Given the description of an element on the screen output the (x, y) to click on. 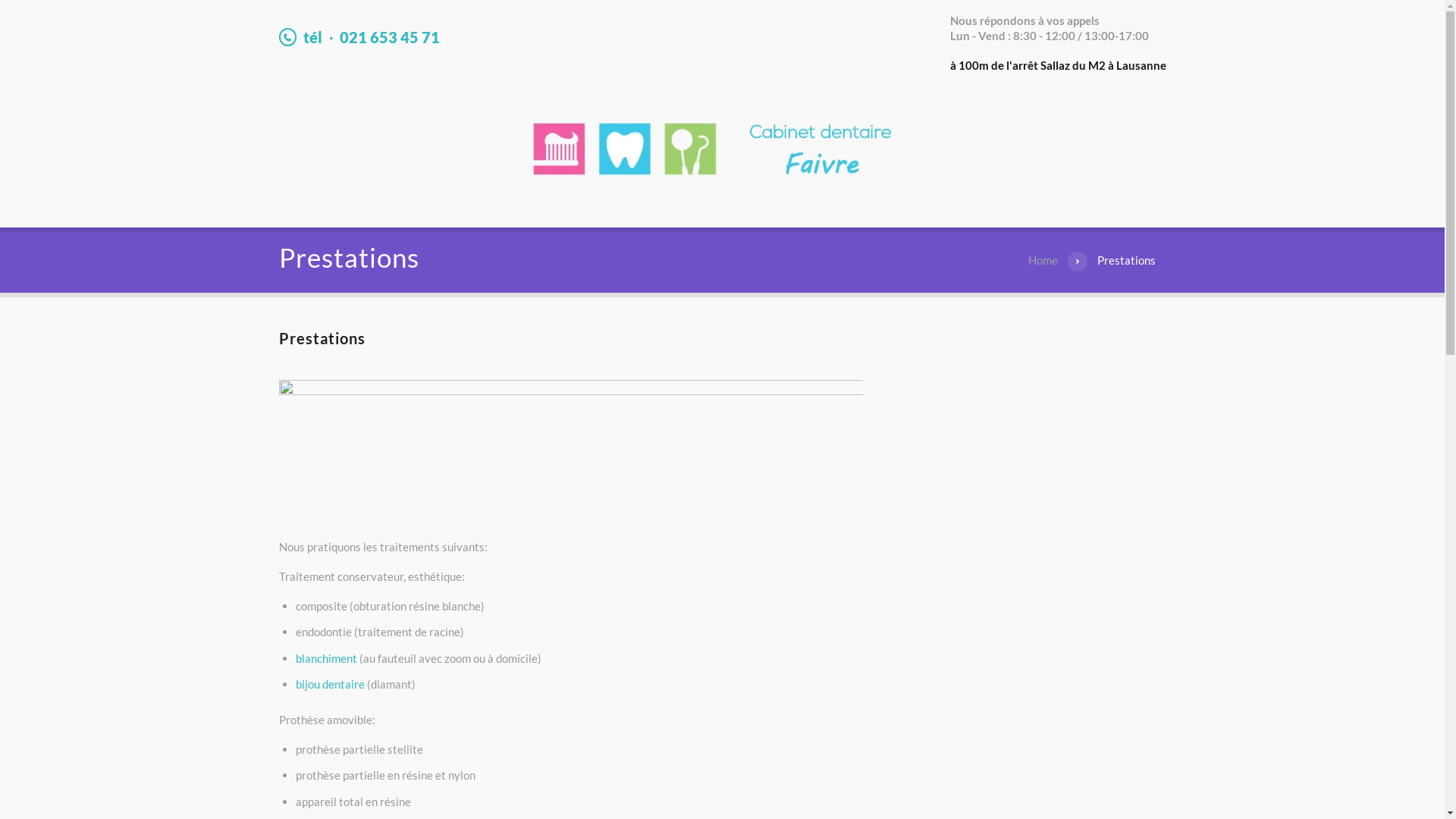
blanchiment Element type: text (326, 658)
bijou dentaire Element type: text (329, 683)
Home Element type: text (1042, 260)
